Given the description of an element on the screen output the (x, y) to click on. 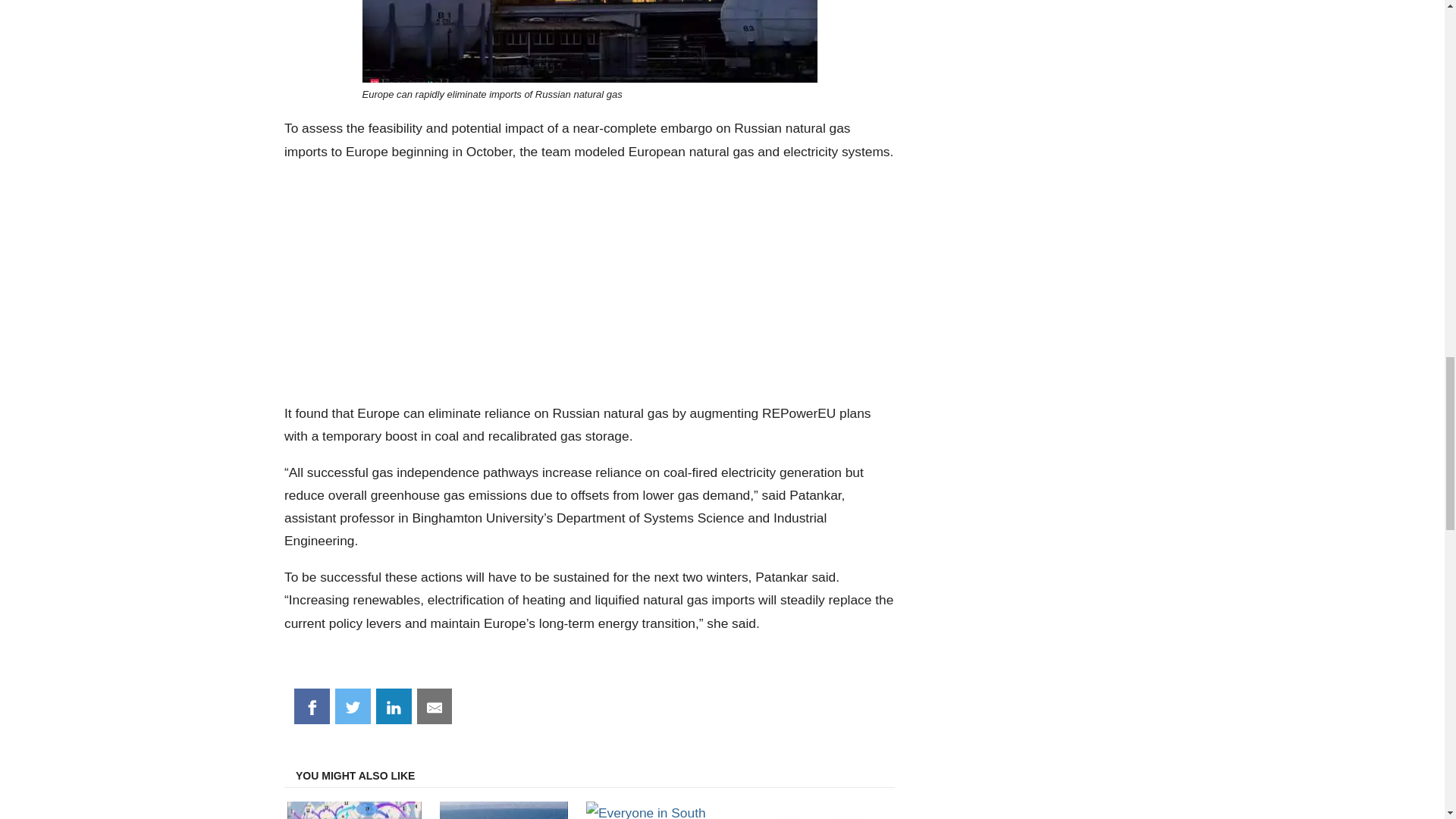
Share on LinkedIn (393, 706)
Everyone in South Korea Is About To Become One Year Younger (655, 808)
Share on Email (434, 706)
Advertisement (589, 282)
Share on Facebook (312, 706)
Tweet this ! (352, 706)
